Given the description of an element on the screen output the (x, y) to click on. 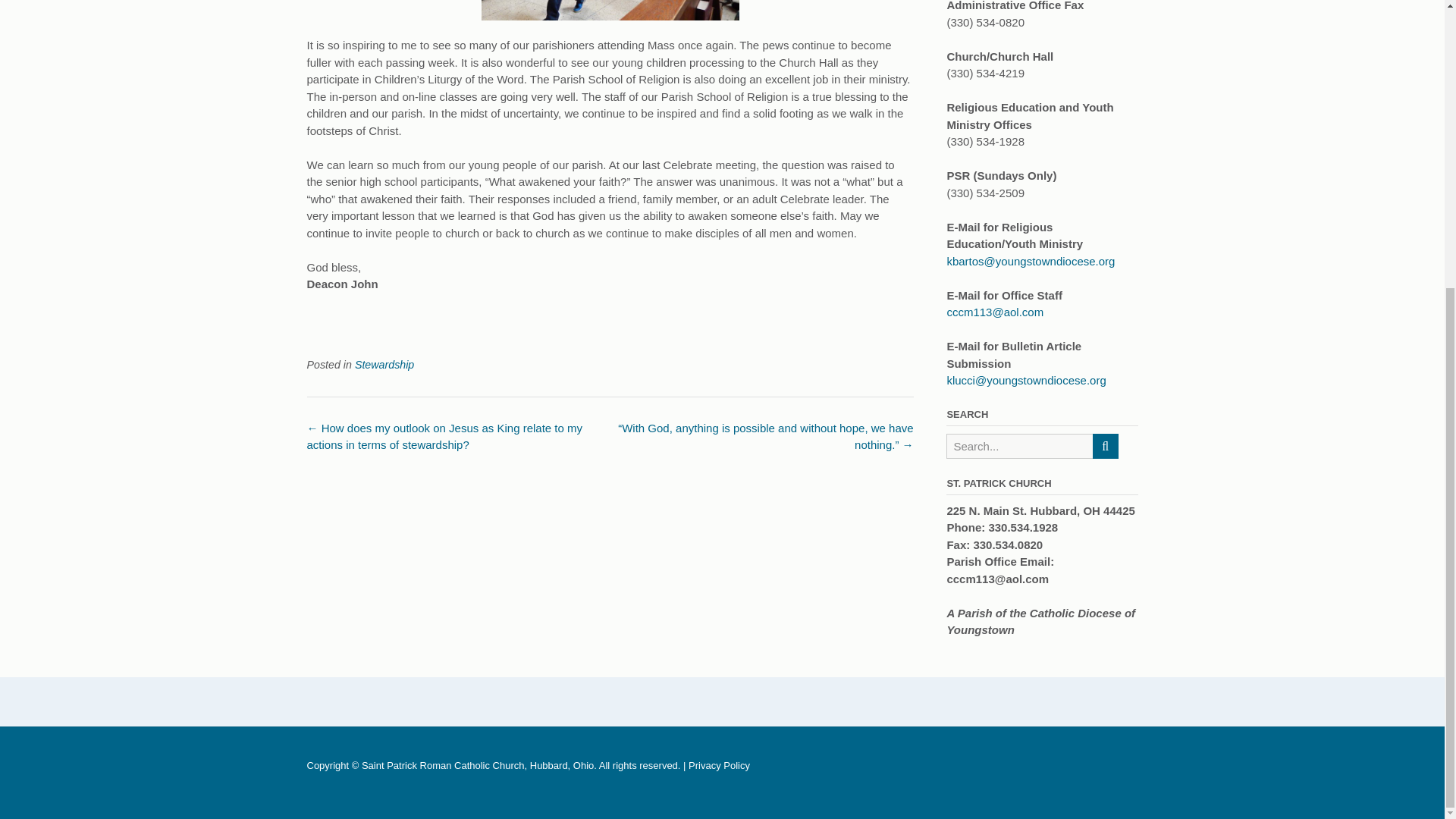
Search for: (1019, 446)
